Given the description of an element on the screen output the (x, y) to click on. 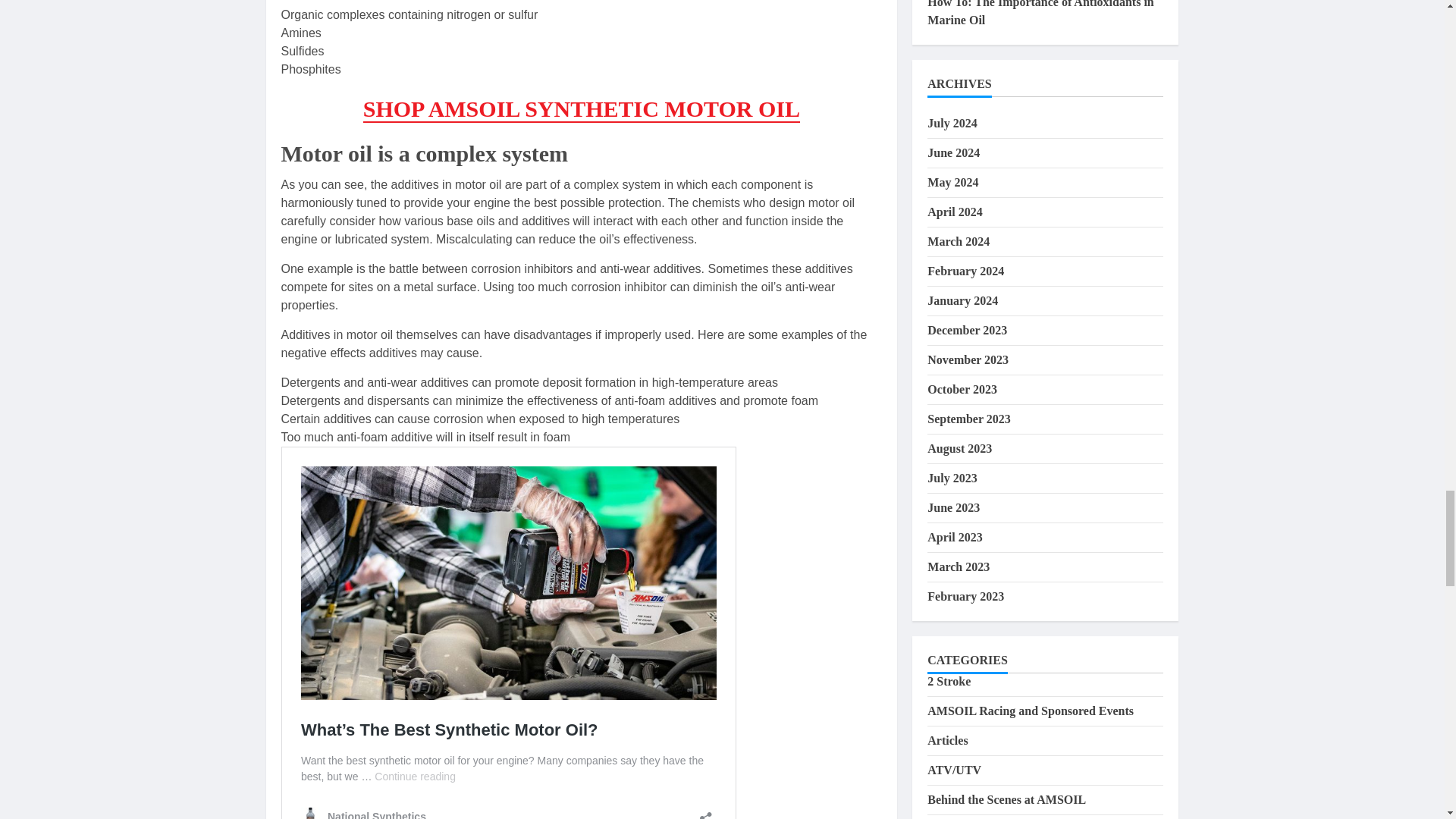
BUY AMSOIL SYNTHETIC MOTOR OIL (580, 109)
